Given the description of an element on the screen output the (x, y) to click on. 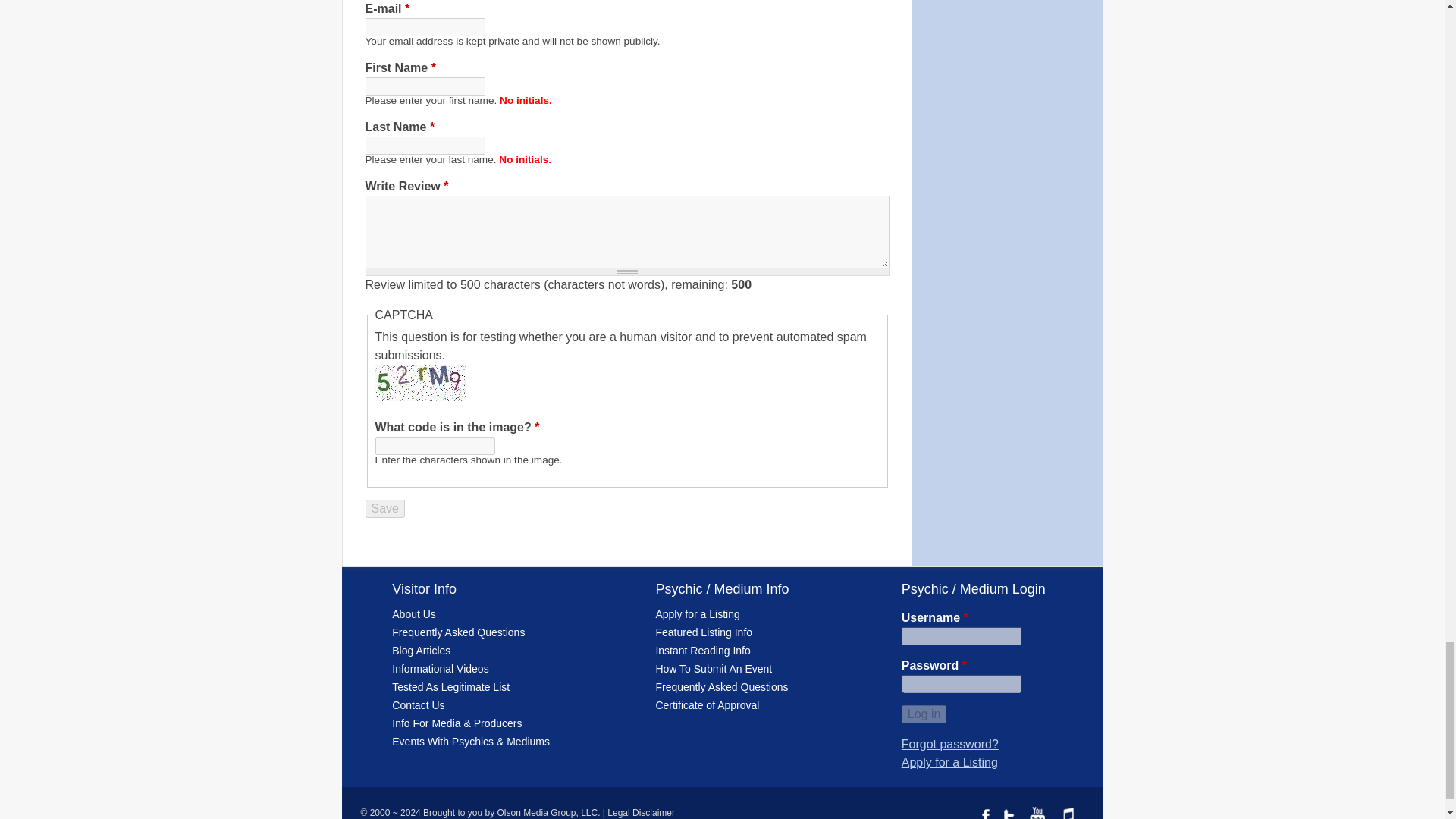
Image CAPTCHA (419, 382)
Blog Articles (420, 650)
Informational Videos (439, 668)
Save (384, 508)
Frequently Asked Questions (457, 632)
About Us (413, 613)
Save (384, 508)
Tested As Legitimate List (450, 686)
Log in (924, 714)
